Given the description of an element on the screen output the (x, y) to click on. 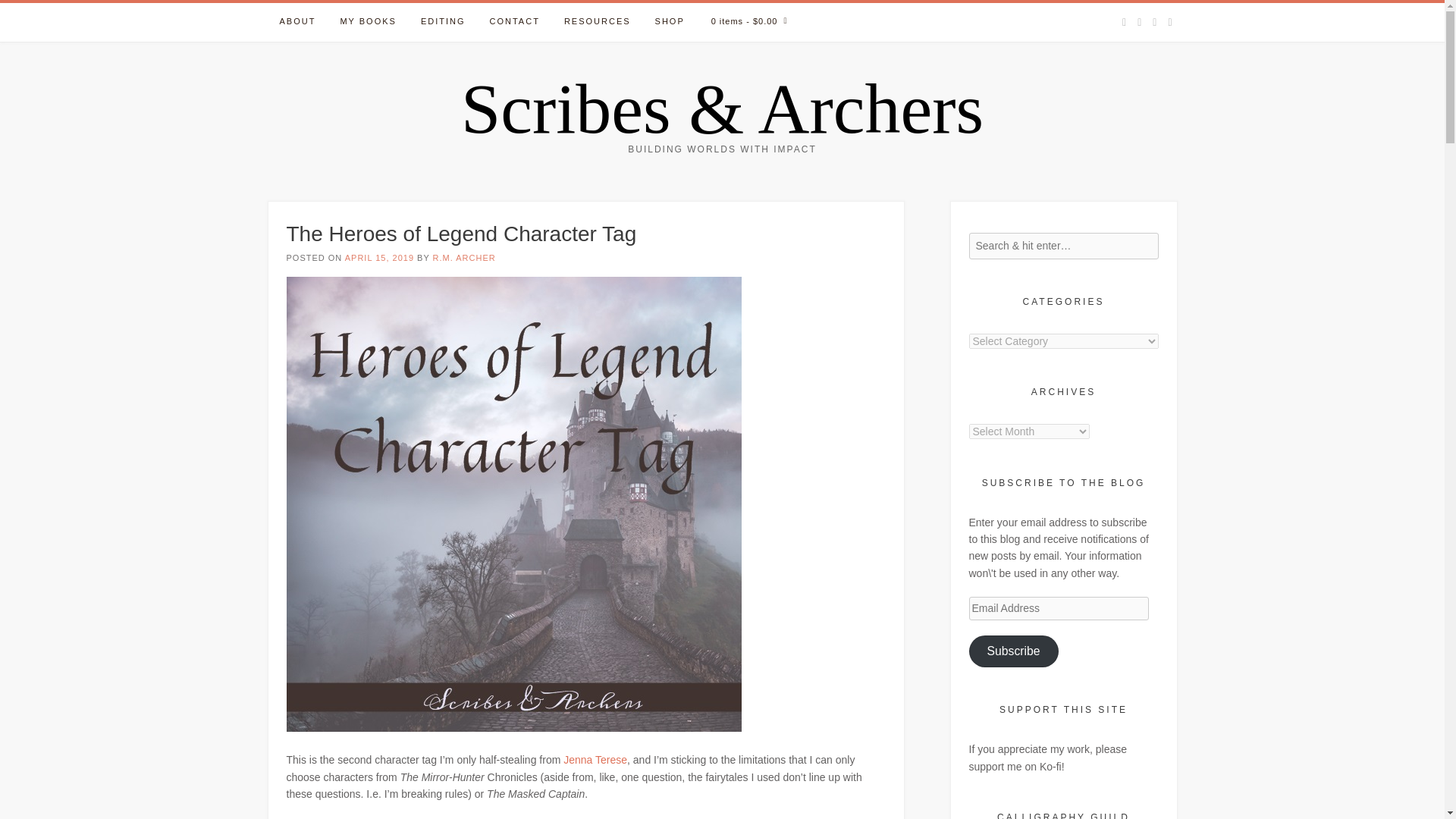
MY BOOKS (367, 22)
APRIL 15, 2019 (379, 257)
EDITING (443, 22)
Jenna Terese (595, 759)
ABOUT (296, 22)
CONTACT (514, 22)
SHOP (670, 22)
RESOURCES (597, 22)
R.M. ARCHER (464, 257)
View your shopping cart (749, 22)
